Given the description of an element on the screen output the (x, y) to click on. 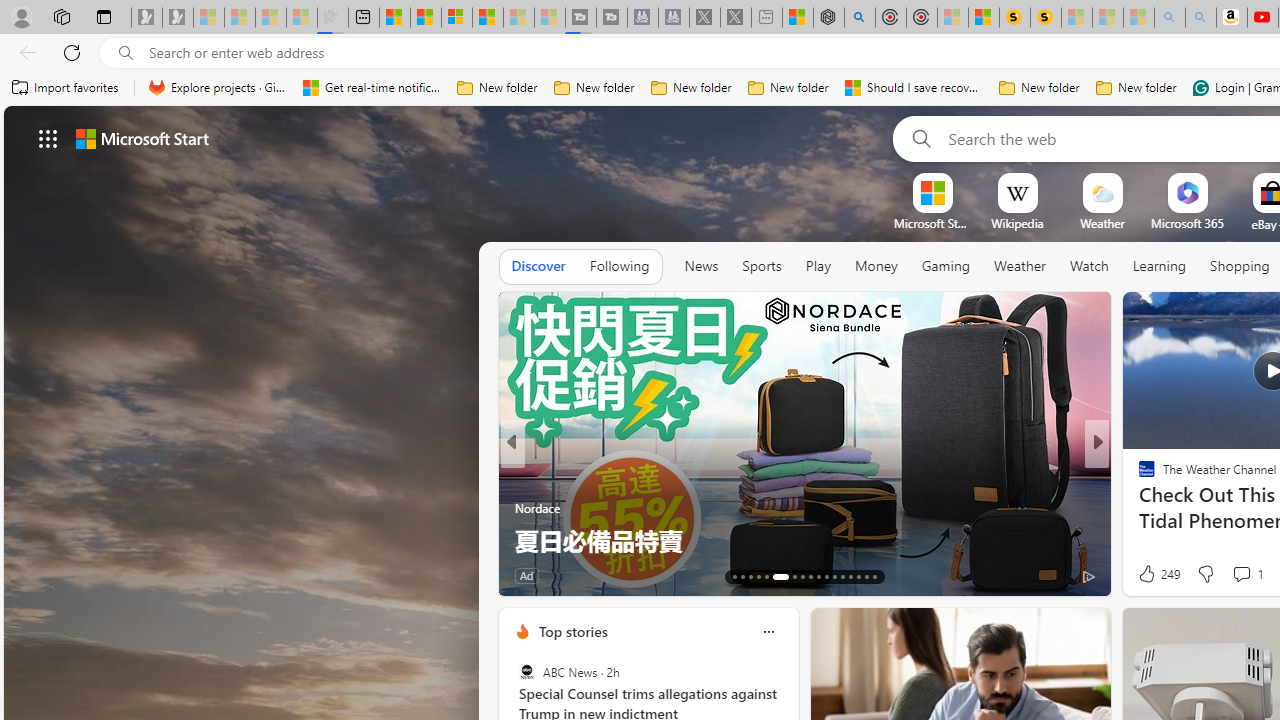
View comments 2 Comment (1222, 575)
Search icon (125, 53)
ABC News (526, 672)
New folder (1136, 88)
To get missing image descriptions, open the context menu. (932, 192)
View comments 5 Comment (1234, 574)
3 Like (1145, 574)
X - Sleeping (735, 17)
AutomationID: tab-17 (765, 576)
Ad Choice (479, 575)
Play (818, 267)
4 Like (1145, 574)
poe - Search (859, 17)
117 Like (1151, 574)
